Given the description of an element on the screen output the (x, y) to click on. 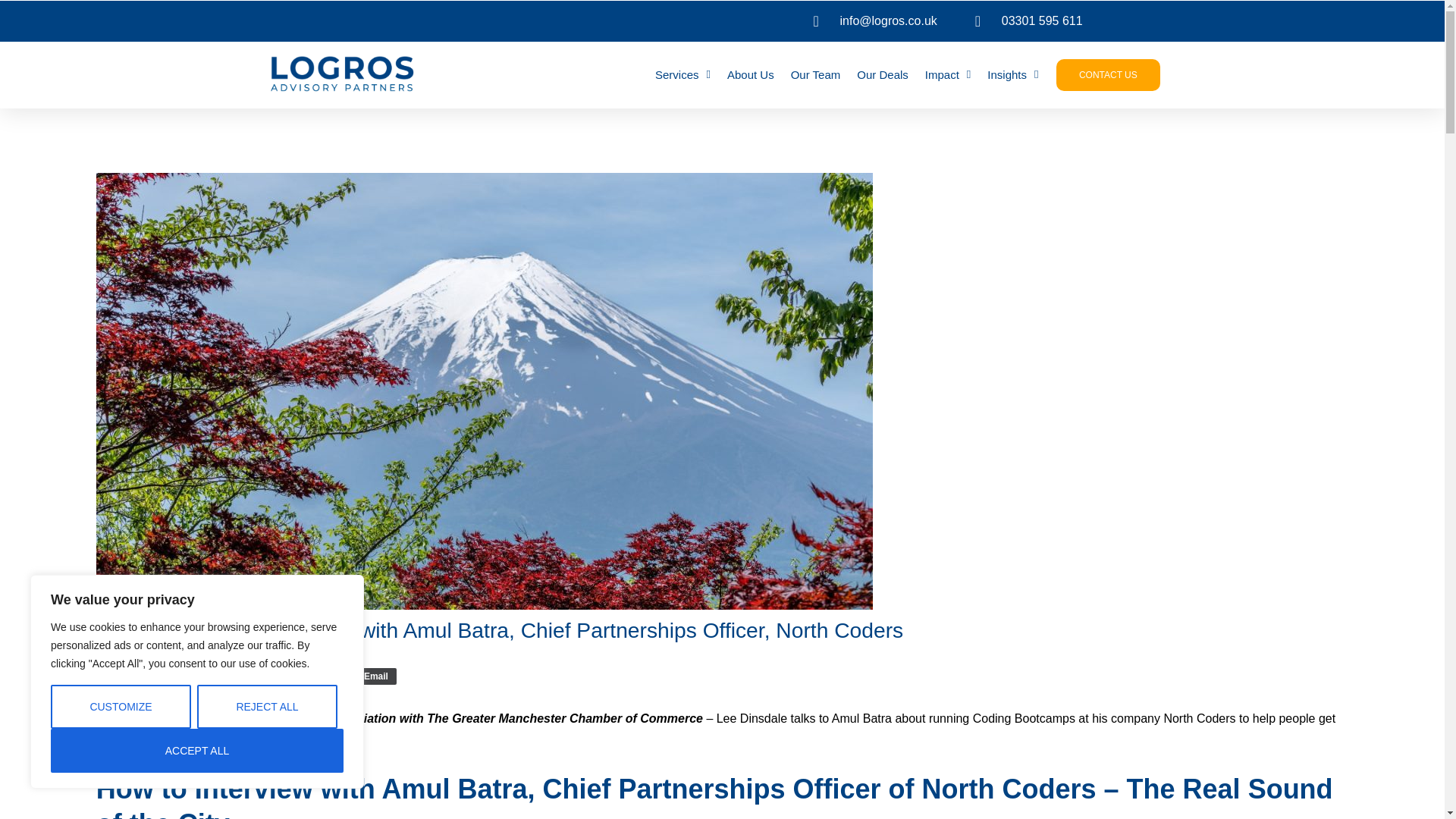
Our Deals (882, 74)
ACCEPT ALL (196, 750)
Email (371, 676)
Services (682, 74)
Share on Twitter (196, 676)
Share on Pinterest (248, 676)
Share on LinkedIn (307, 676)
CUSTOMIZE (120, 706)
REJECT ALL (266, 706)
Share via Email (371, 676)
Impact (947, 74)
Share on Facebook (130, 676)
About Us (750, 74)
Our Team (815, 74)
